Given the description of an element on the screen output the (x, y) to click on. 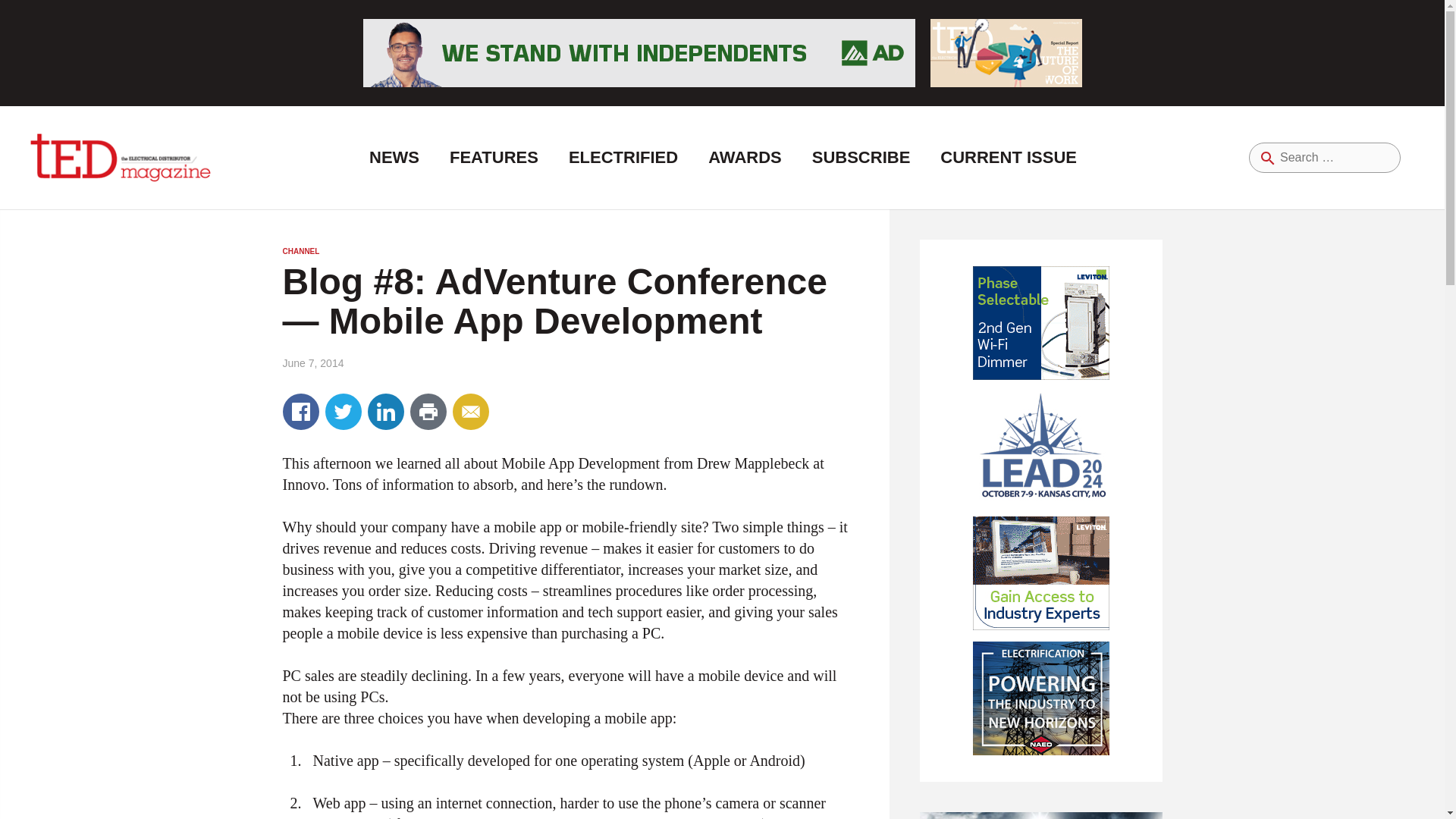
SUBSCRIBE (861, 157)
NEWS (394, 157)
AWARDS (745, 157)
ELECTRIFIED (622, 157)
CURRENT ISSUE (1008, 157)
Search for: (1324, 157)
June 7, 2014 (312, 363)
FEATURES (493, 157)
